Given the description of an element on the screen output the (x, y) to click on. 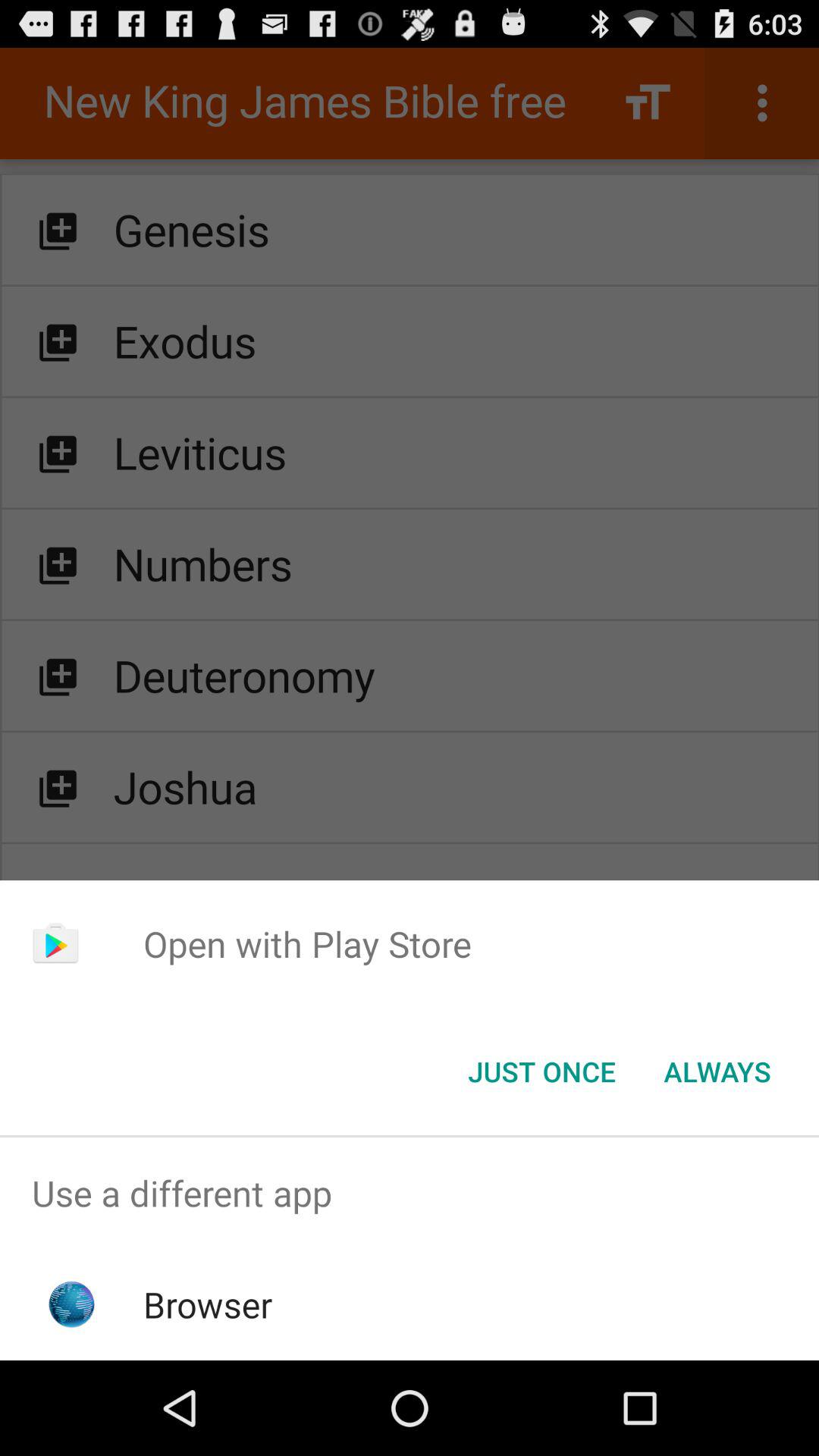
scroll to browser item (207, 1304)
